Given the description of an element on the screen output the (x, y) to click on. 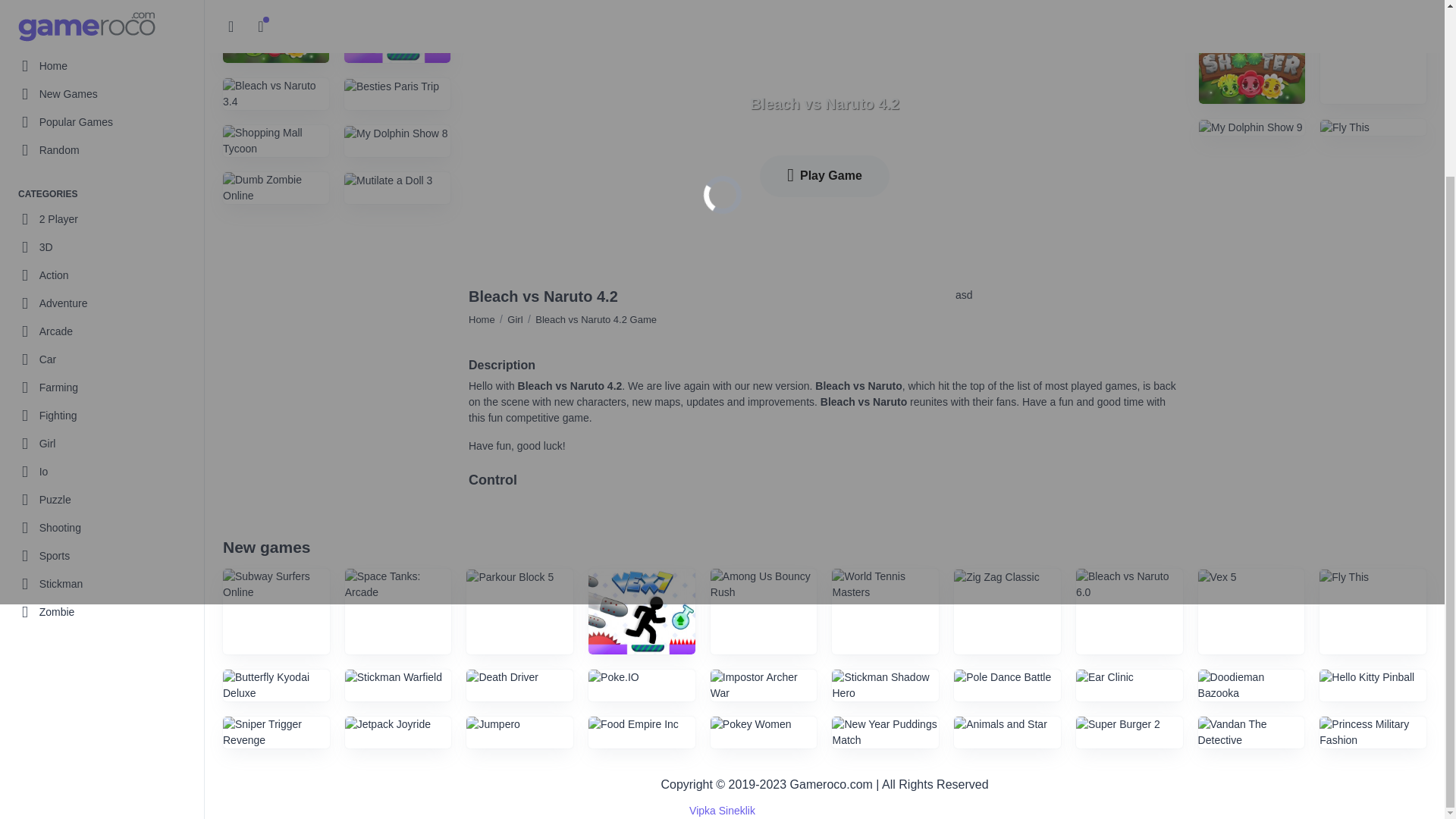
Home (481, 319)
3D (101, 32)
Arcade (101, 117)
Girl (101, 229)
Girl (101, 229)
Stickman (101, 369)
Girl (514, 319)
Shooting (101, 313)
Action (101, 60)
Bleach vs Naruto 4.2 Game (595, 319)
